Given the description of an element on the screen output the (x, y) to click on. 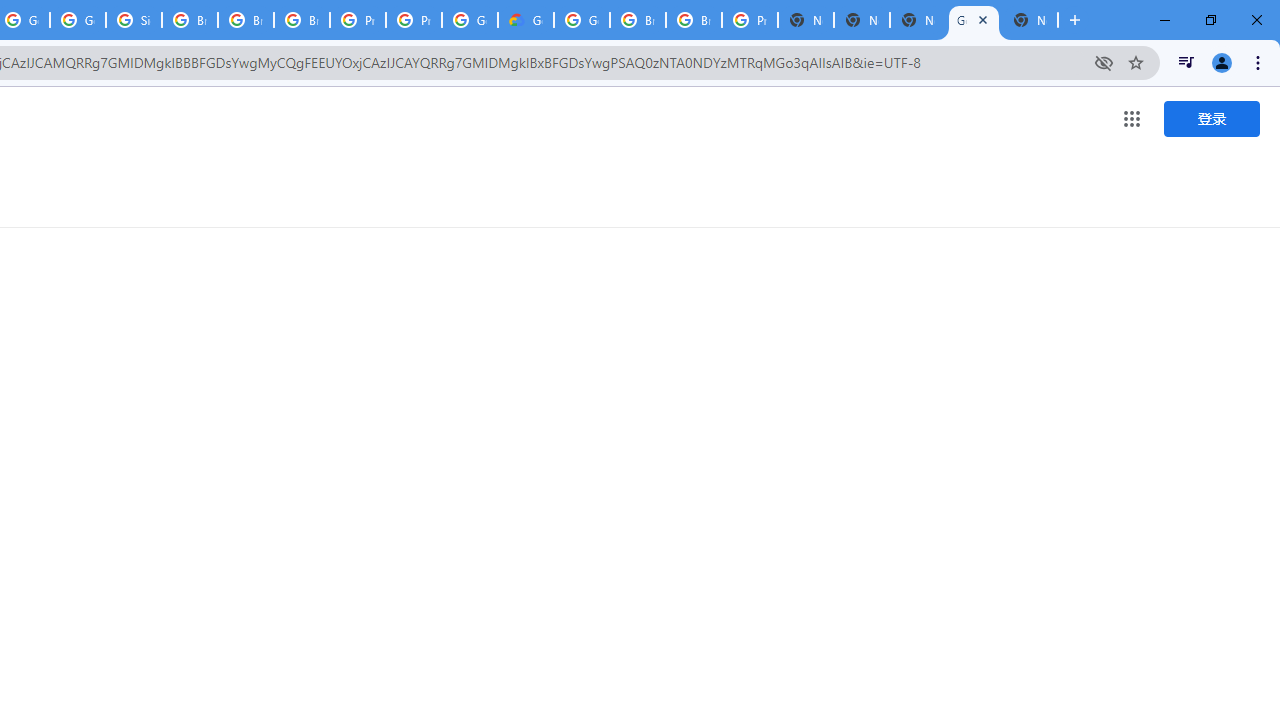
New Tab (1030, 20)
Browse Chrome as a guest - Computer - Google Chrome Help (637, 20)
New Tab (806, 20)
